Given the description of an element on the screen output the (x, y) to click on. 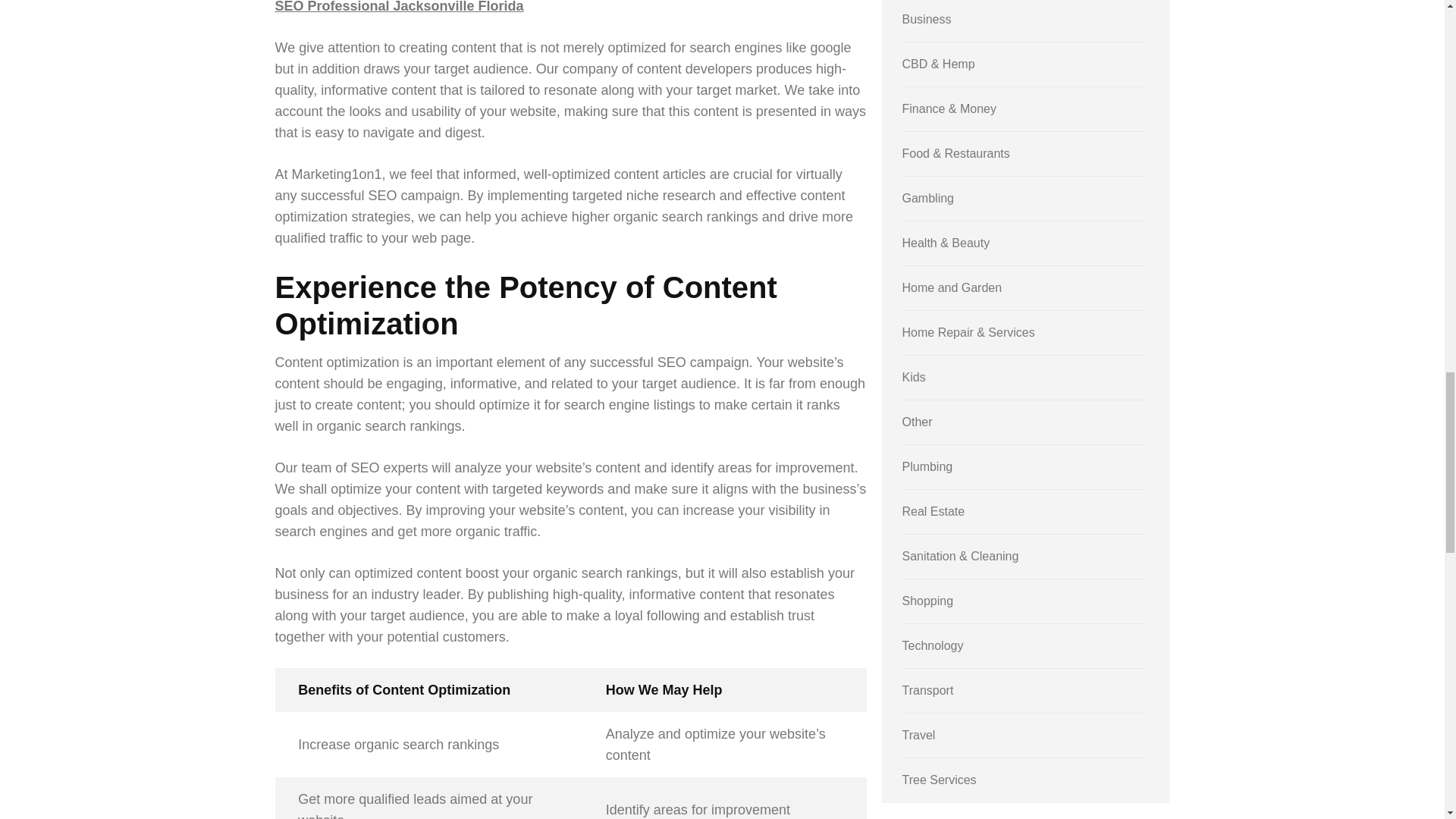
SEO Professional Jacksonville Florida (398, 6)
